Given the description of an element on the screen output the (x, y) to click on. 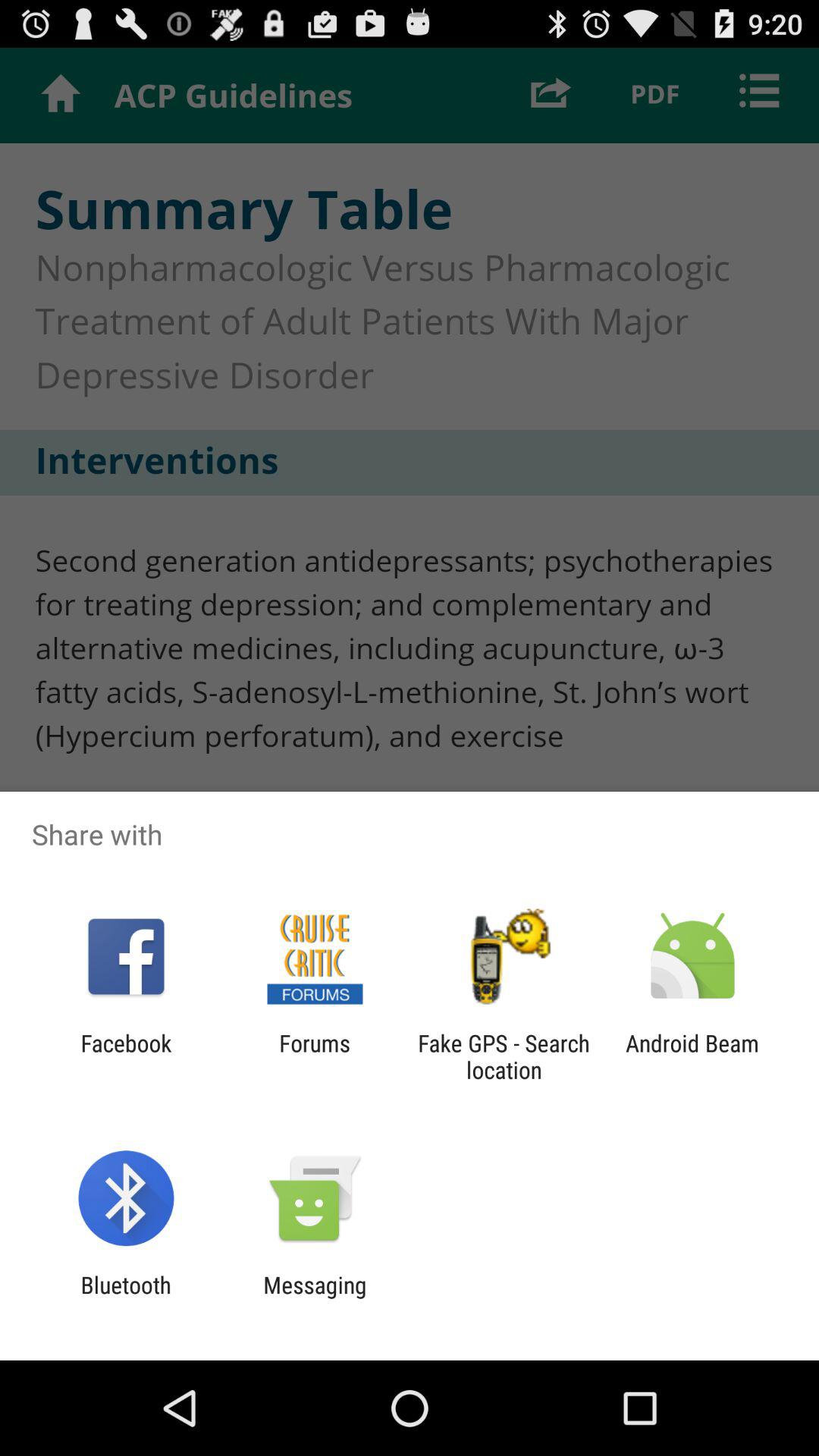
click fake gps search (503, 1056)
